Given the description of an element on the screen output the (x, y) to click on. 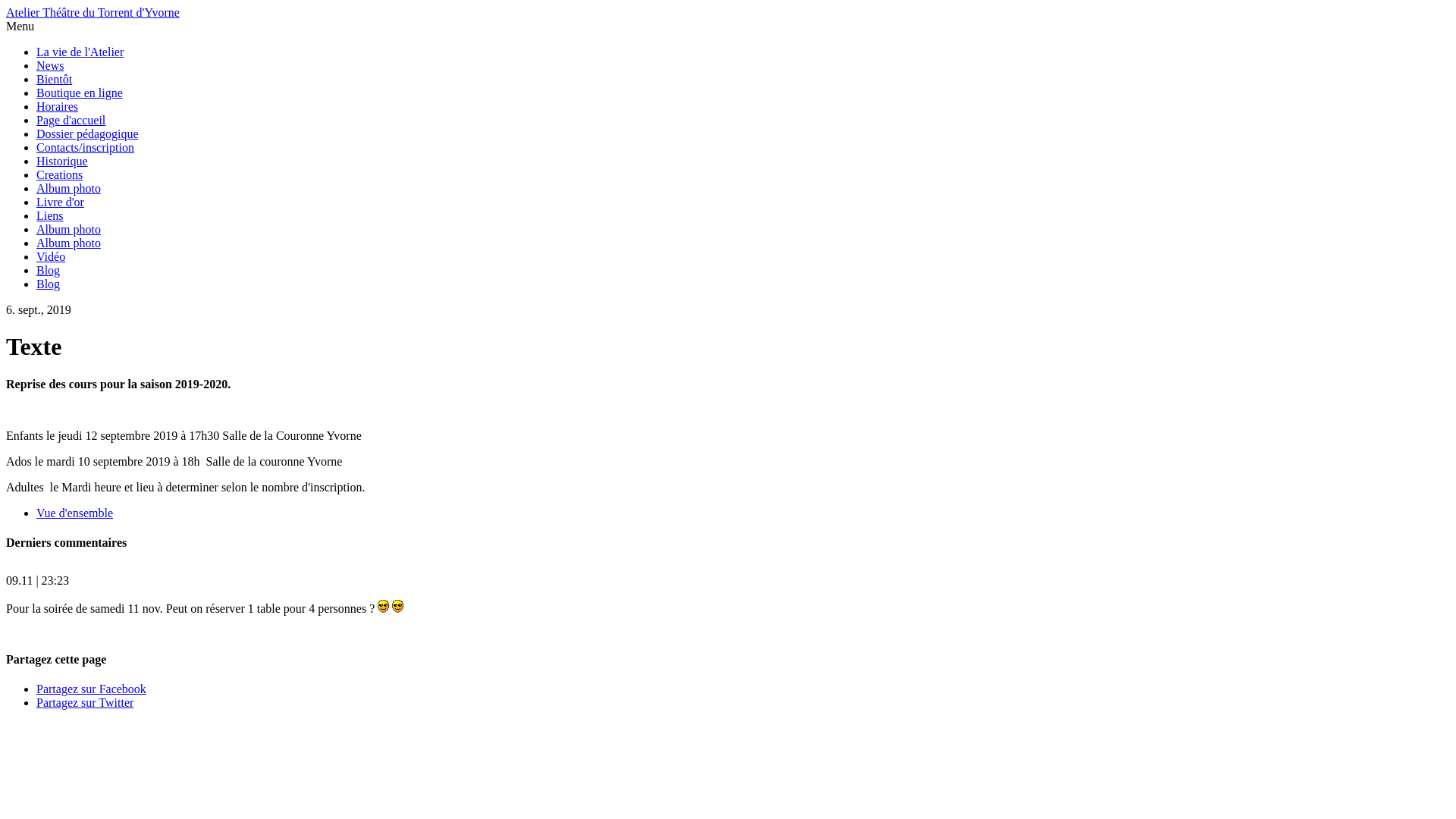
Contacts/inscription Element type: text (85, 147)
Album photo Element type: text (68, 228)
Menu Element type: text (20, 25)
Historique Element type: text (61, 160)
Boutique en ligne Element type: text (79, 92)
Horaires Element type: text (57, 106)
Album photo Element type: text (68, 188)
La vie de l'Atelier Element type: text (79, 51)
Partagez sur Twitter Element type: text (84, 702)
Creations Element type: text (59, 174)
Livre d'or Element type: text (60, 201)
Vue d'ensemble Element type: text (74, 512)
Liens Element type: text (49, 215)
Page d'accueil Element type: text (70, 119)
Blog Element type: text (47, 283)
Blog Element type: text (47, 269)
Album photo Element type: text (68, 242)
Partagez sur Facebook Element type: text (91, 688)
News Element type: text (49, 65)
